Given the description of an element on the screen output the (x, y) to click on. 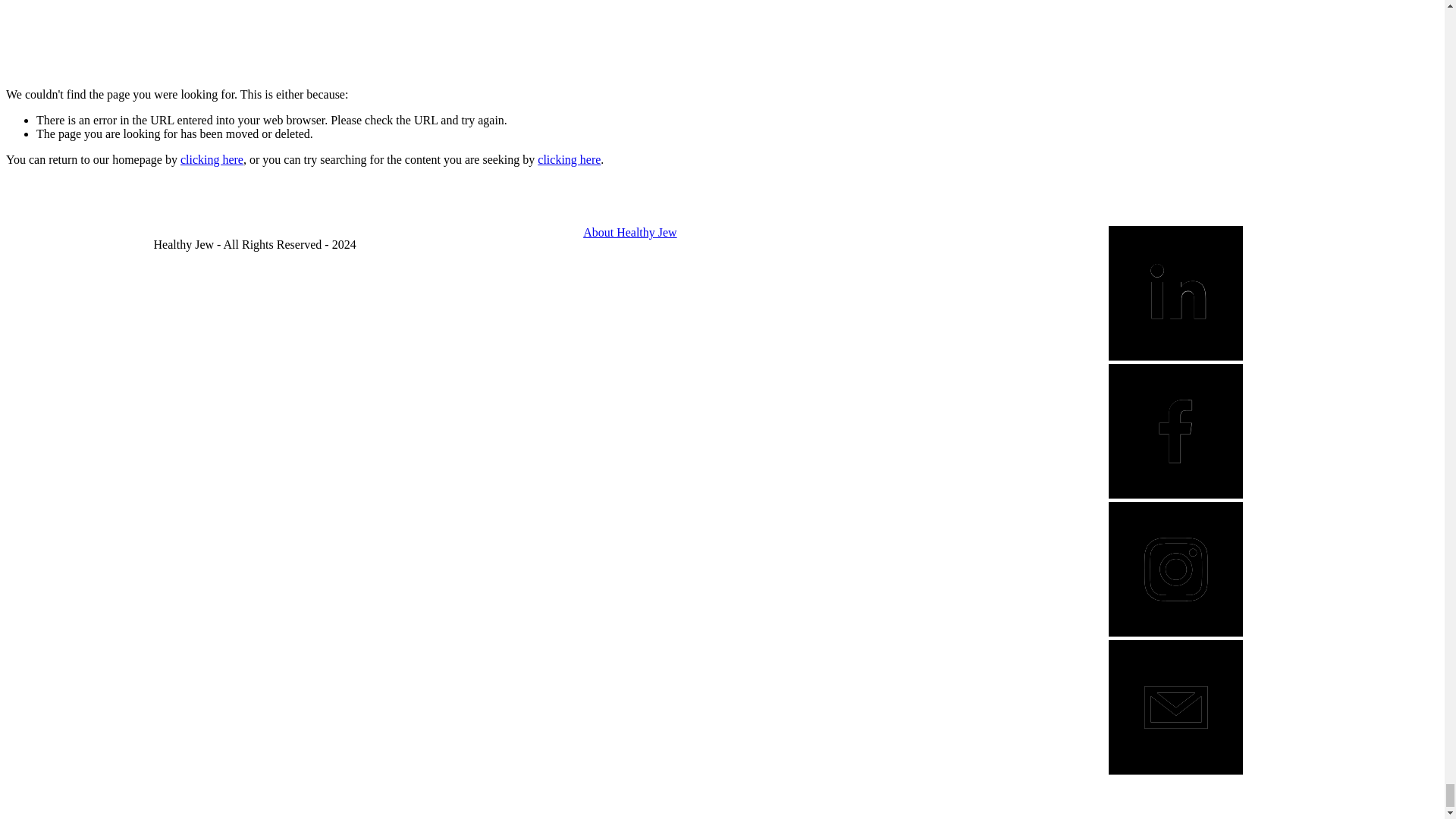
clicking here (568, 159)
About Healthy Jew (630, 232)
clicking here (211, 159)
